Given the description of an element on the screen output the (x, y) to click on. 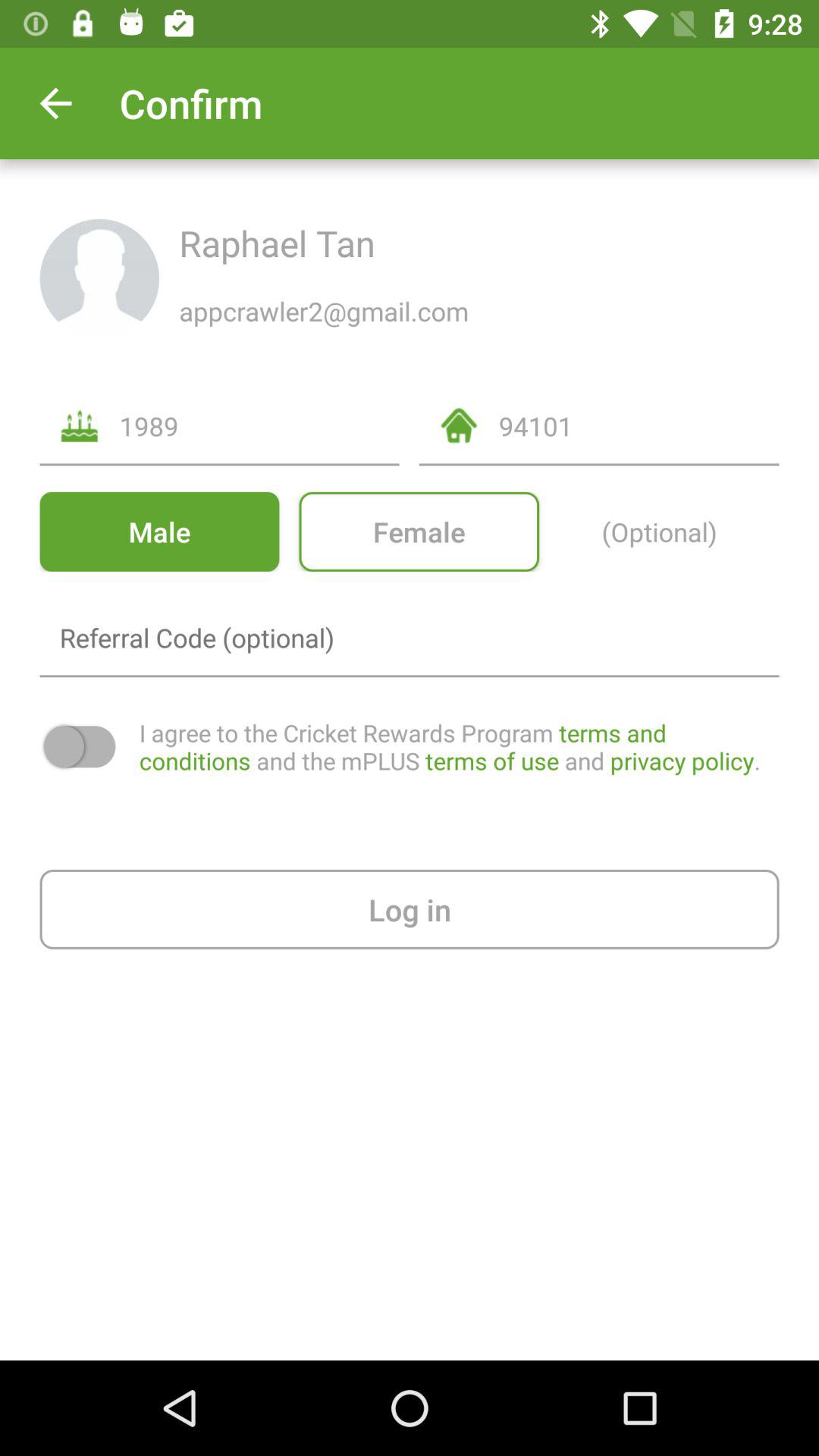
choose icon above the log in (459, 746)
